Given the description of an element on the screen output the (x, y) to click on. 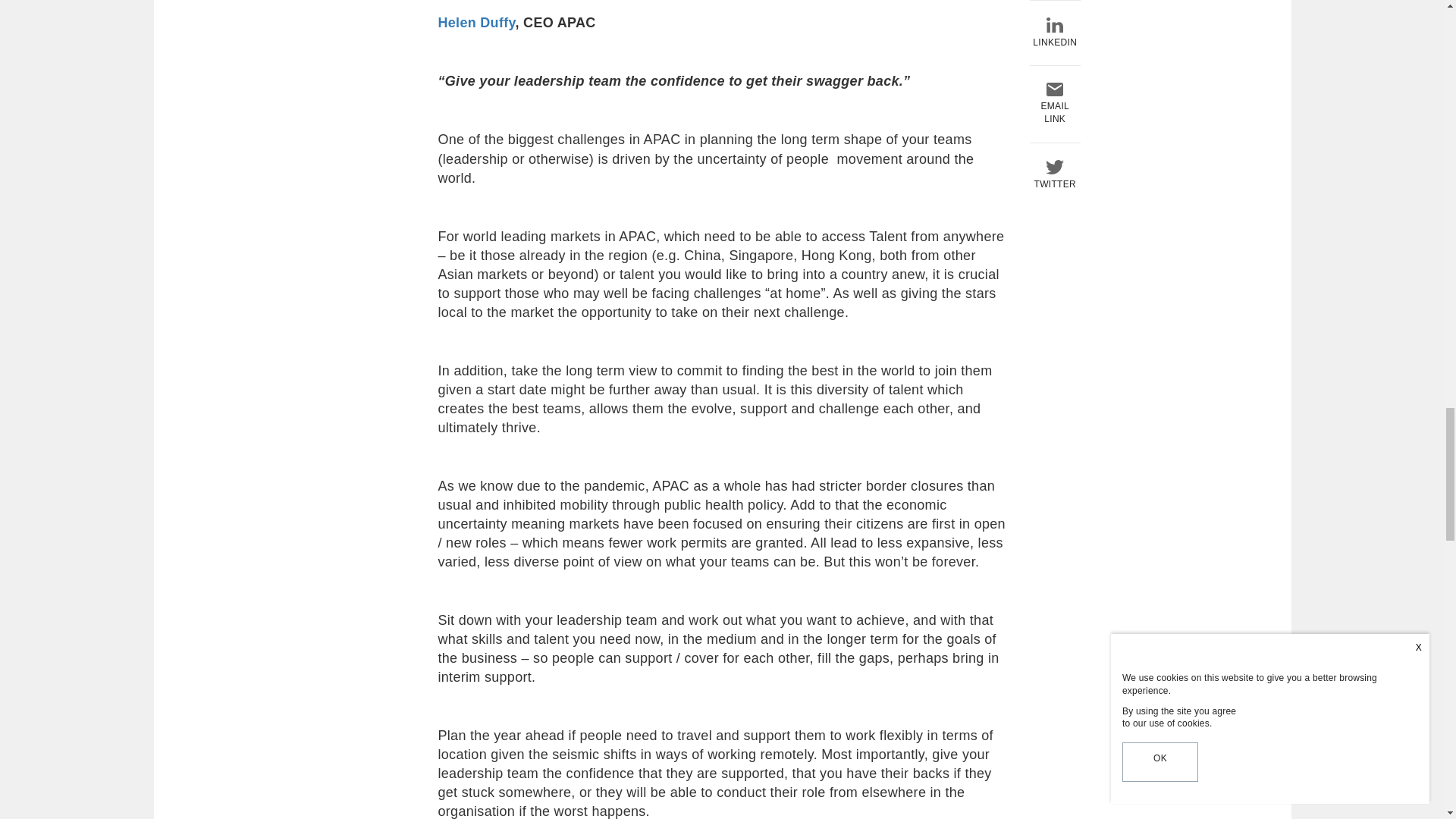
Helen Duffy (476, 22)
